Given the description of an element on the screen output the (x, y) to click on. 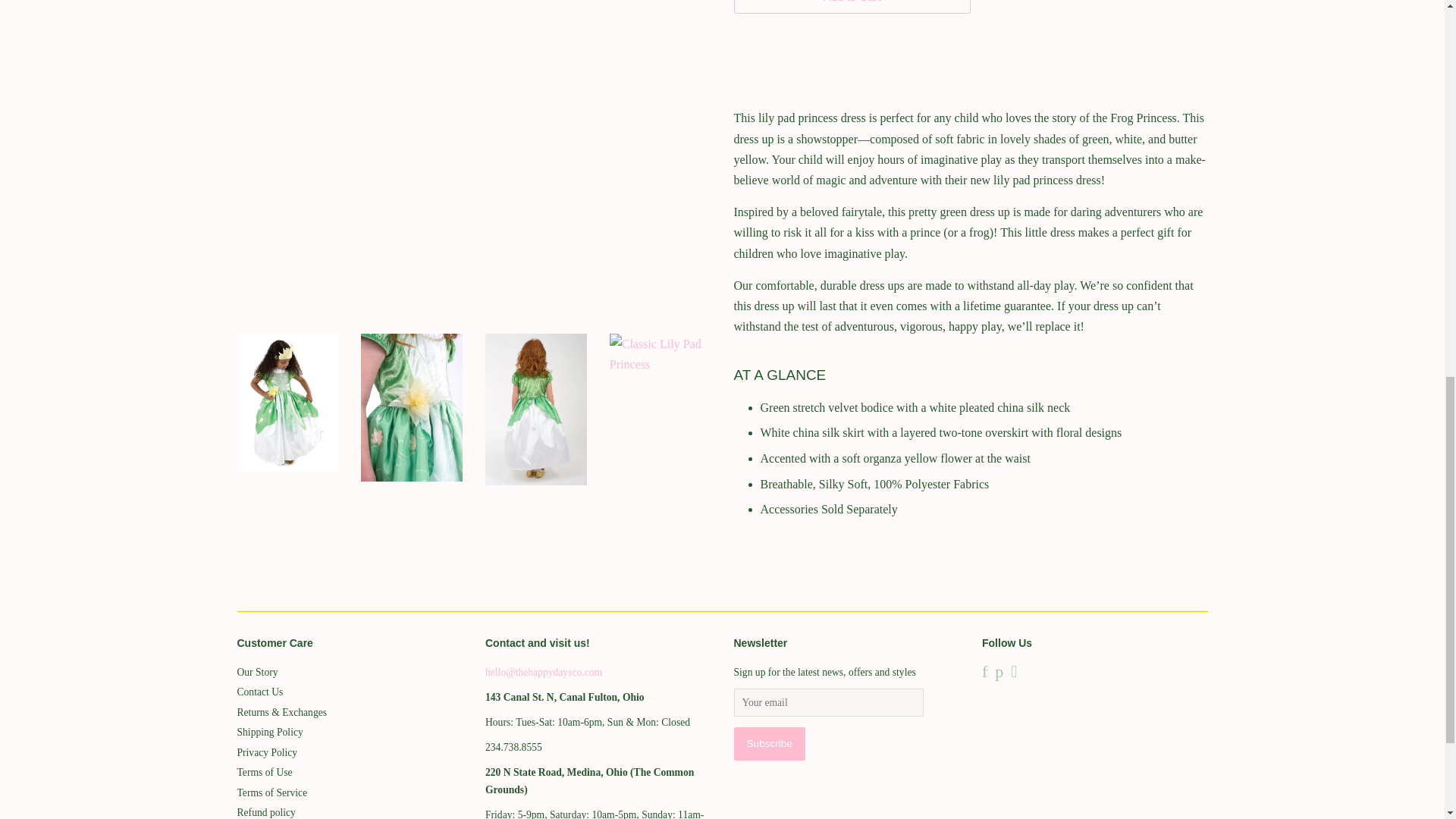
Contact Us (543, 672)
Subscribe (769, 743)
